Given the description of an element on the screen output the (x, y) to click on. 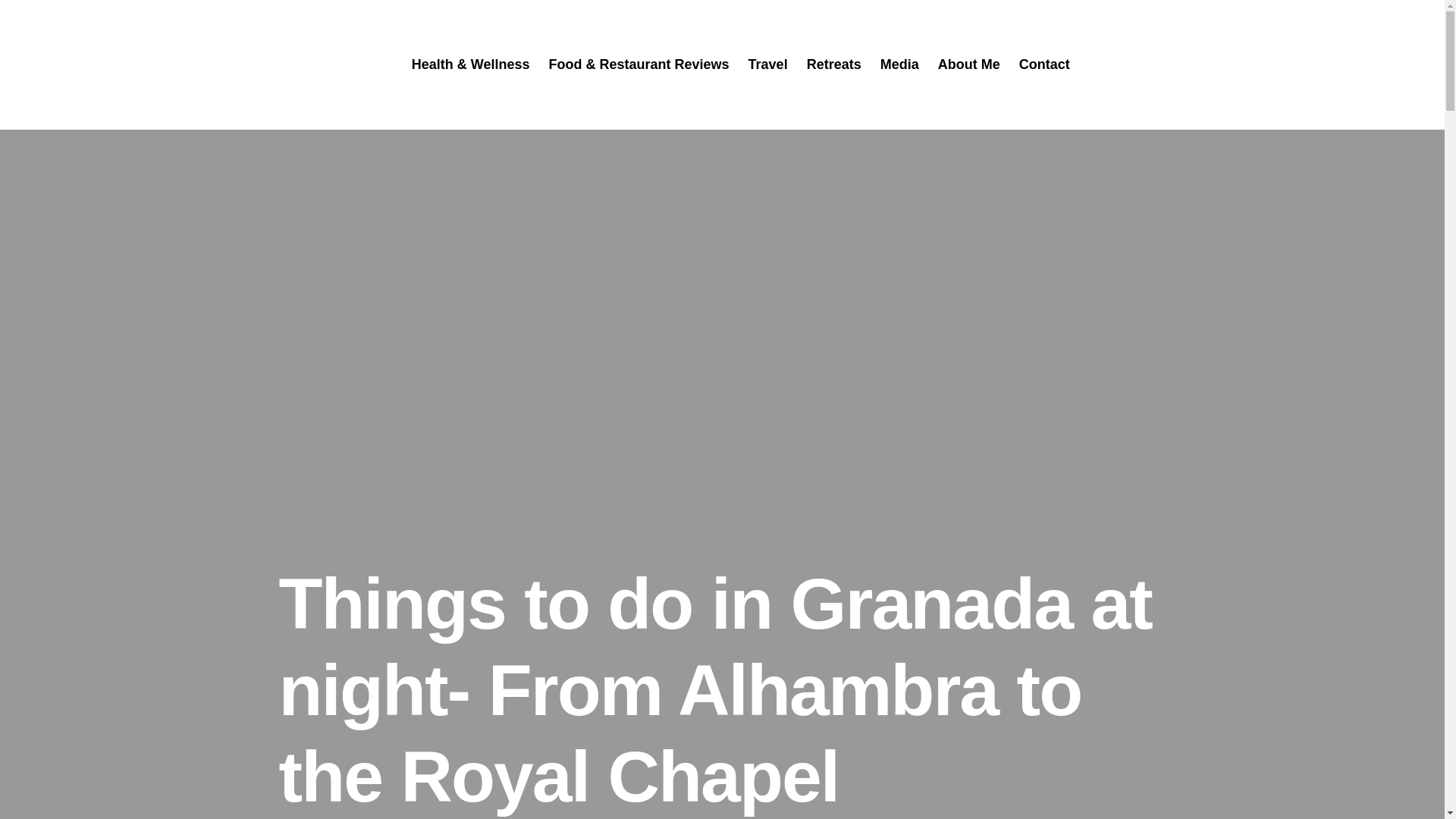
Travel (767, 64)
Media (899, 64)
Food and Restaurant Reviews (638, 64)
Health and Wellness (470, 64)
Retreats (833, 64)
Contact (1044, 64)
About Me (968, 64)
Travel (767, 64)
